Given the description of an element on the screen output the (x, y) to click on. 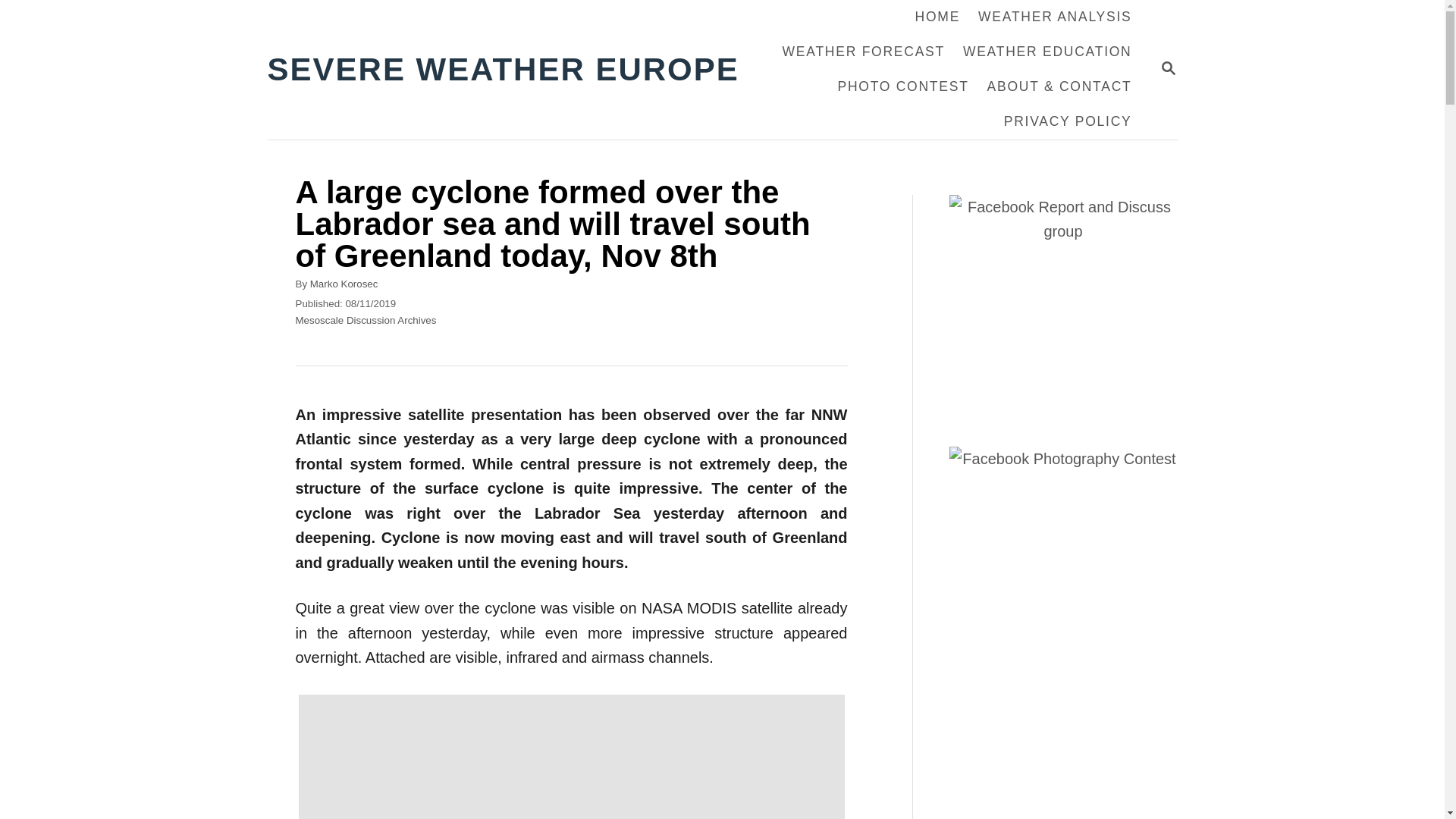
rf (571, 755)
WEATHER ANALYSIS (1054, 17)
SEVERE WEATHER EUROPE (511, 70)
Marko Korosec (344, 283)
MAGNIFYING GLASS (1167, 68)
Mesoscale Discussion Archives (1167, 67)
PRIVACY POLICY (365, 319)
WEATHER FORECAST (1067, 121)
PHOTO CONTEST (863, 52)
